Given the description of an element on the screen output the (x, y) to click on. 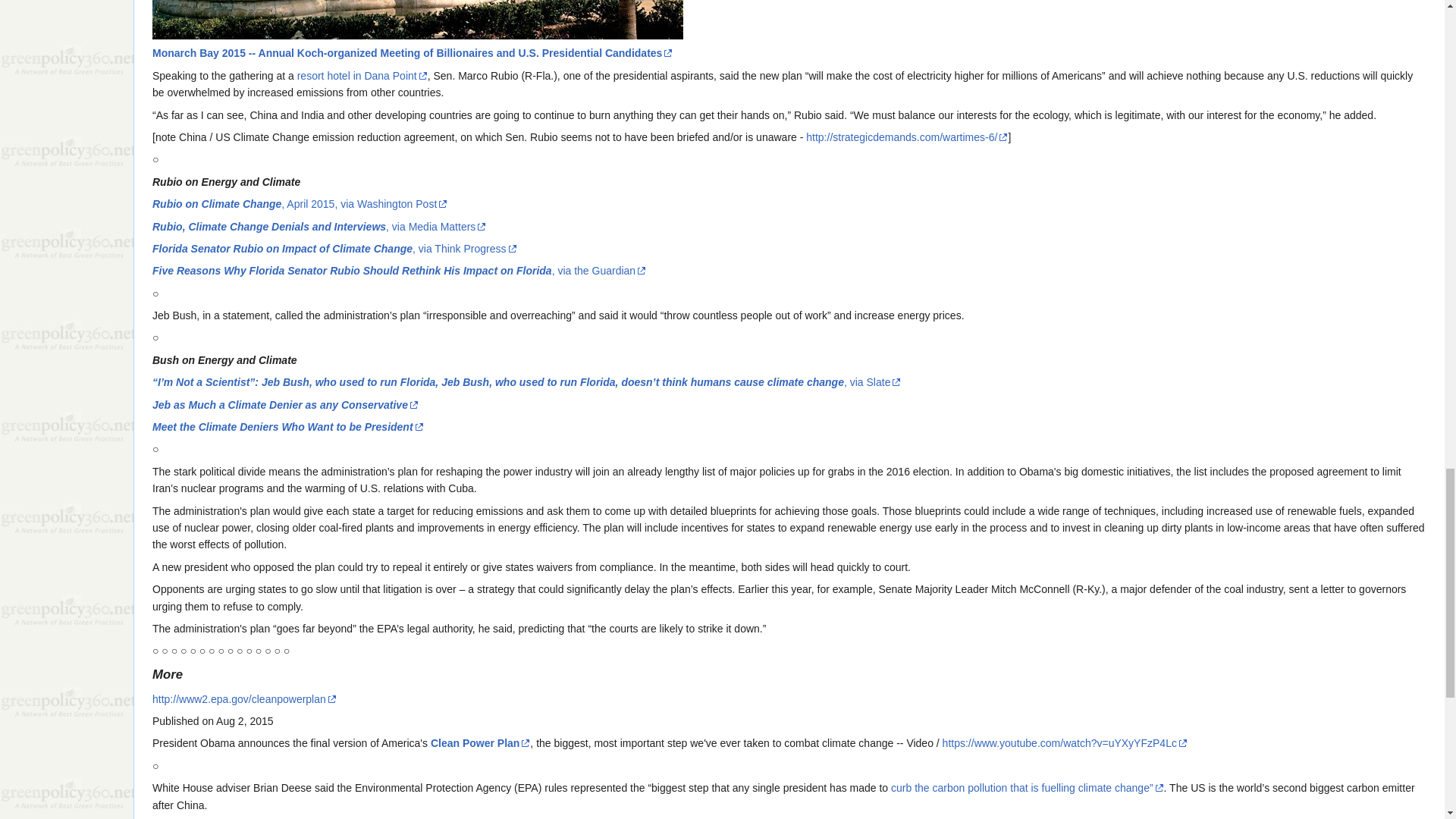
Jeb as Much a Climate Denier as any Conservative (285, 404)
resort hotel in Dana Point (362, 75)
Meet the Climate Deniers Who Want to be President (287, 426)
Rubio on Climate Change, April 2015, via Washington Post (299, 203)
Clean Power Plan (479, 743)
